Given the description of an element on the screen output the (x, y) to click on. 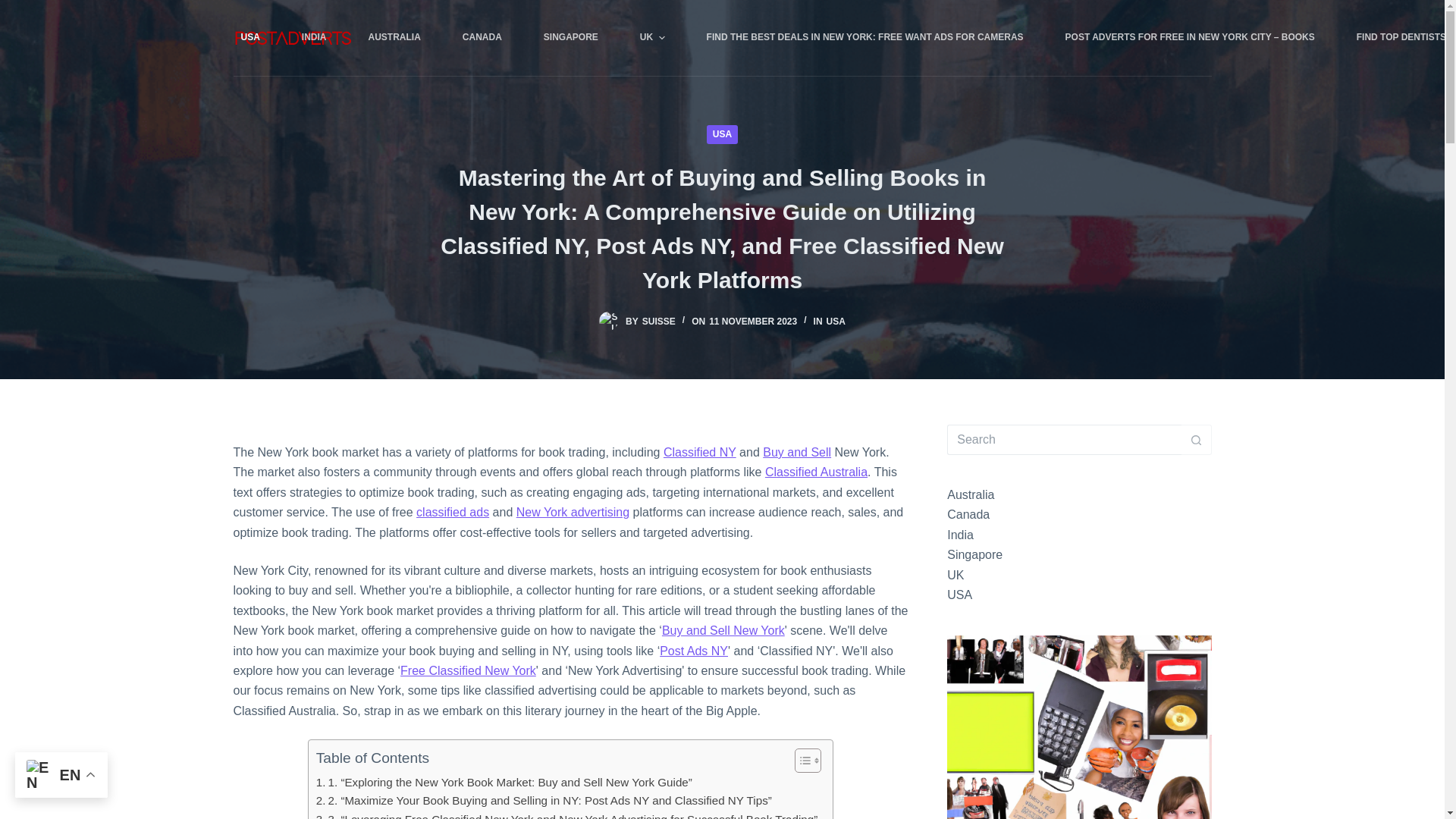
Skip to content (15, 7)
Posts by suisse (658, 321)
AUSTRALIA (394, 38)
FIND THE BEST DEALS IN NEW YORK: FREE WANT ADS FOR CAMERAS (864, 38)
USA (261, 38)
INDIA (314, 38)
Posts tagged with Classified Ads (452, 512)
Posts tagged with Classified Australia (816, 472)
UK (651, 38)
SINGAPORE (570, 38)
CANADA (481, 38)
Posts tagged with Free Classified New York (467, 670)
Posts tagged with Post Ads NY (693, 650)
Posts tagged with Classified NY (699, 451)
